Given the description of an element on the screen output the (x, y) to click on. 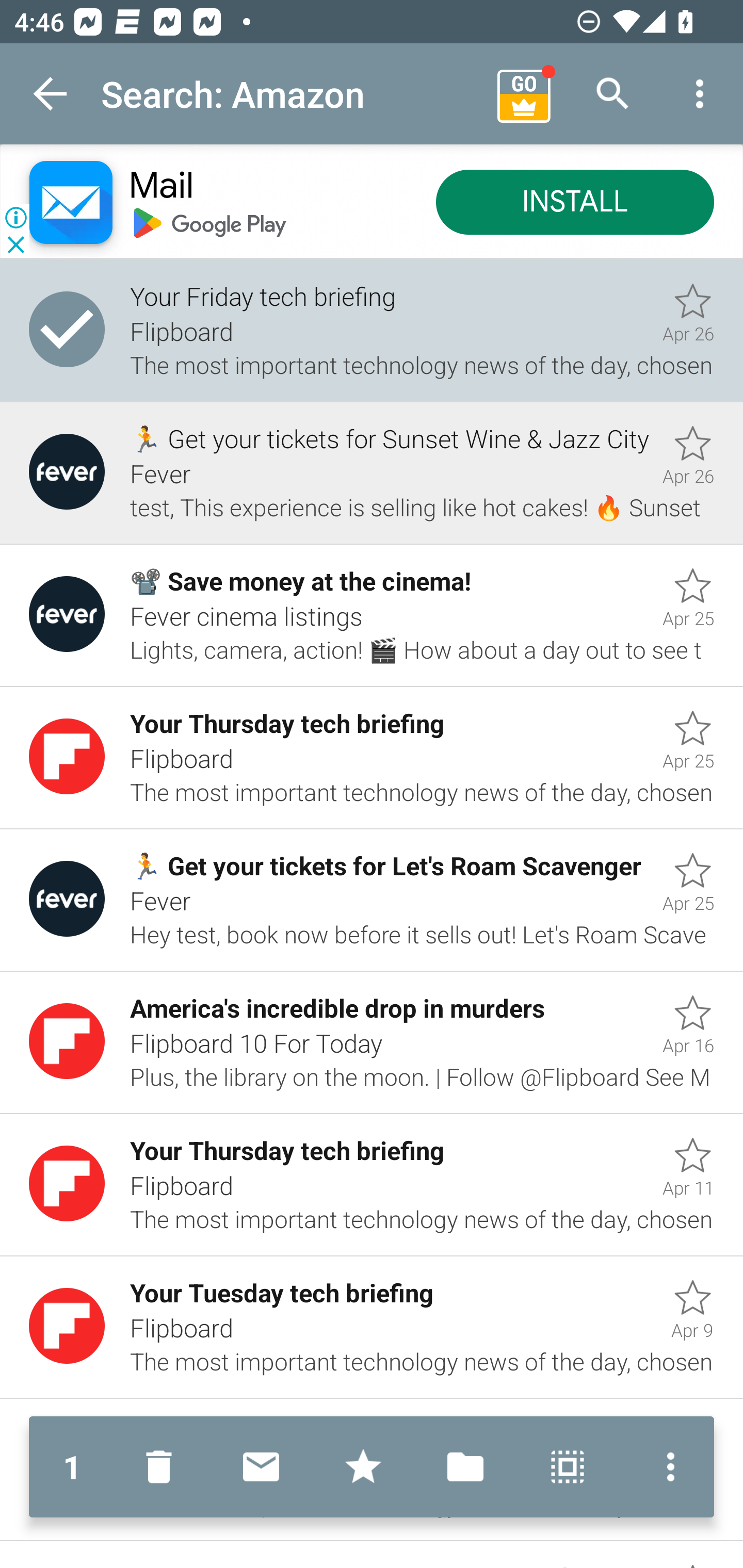
Navigate up (50, 93)
Search (612, 93)
More options (699, 93)
Mail (161, 186)
INSTALL (575, 202)
1 1 message (71, 1466)
Move to Deleted (162, 1466)
Mark unread (261, 1466)
Mark with stars (363, 1466)
Move to folder… (465, 1466)
Select all (567, 1466)
More options (666, 1466)
